Given the description of an element on the screen output the (x, y) to click on. 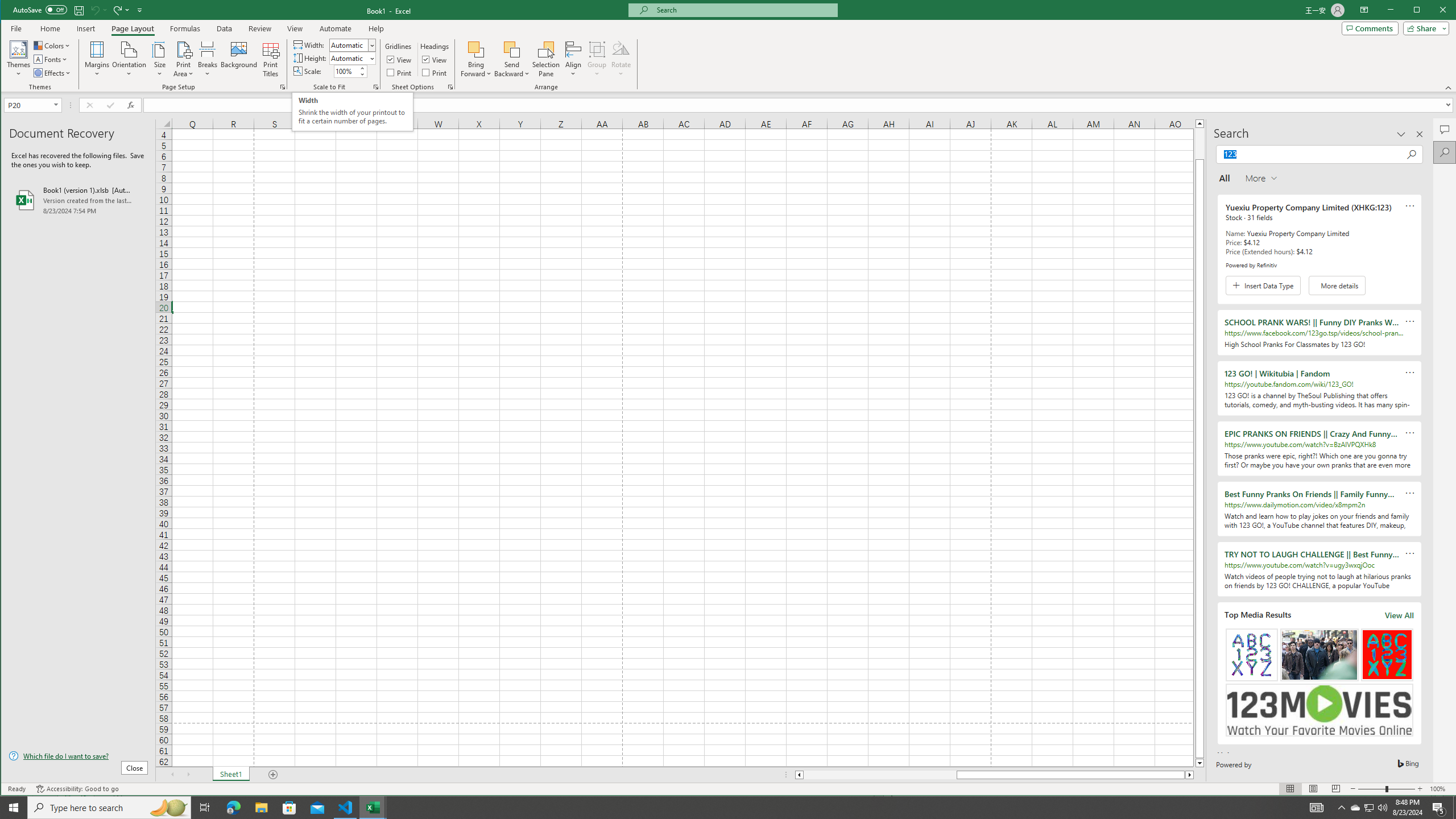
Print Titles (270, 59)
